Given the description of an element on the screen output the (x, y) to click on. 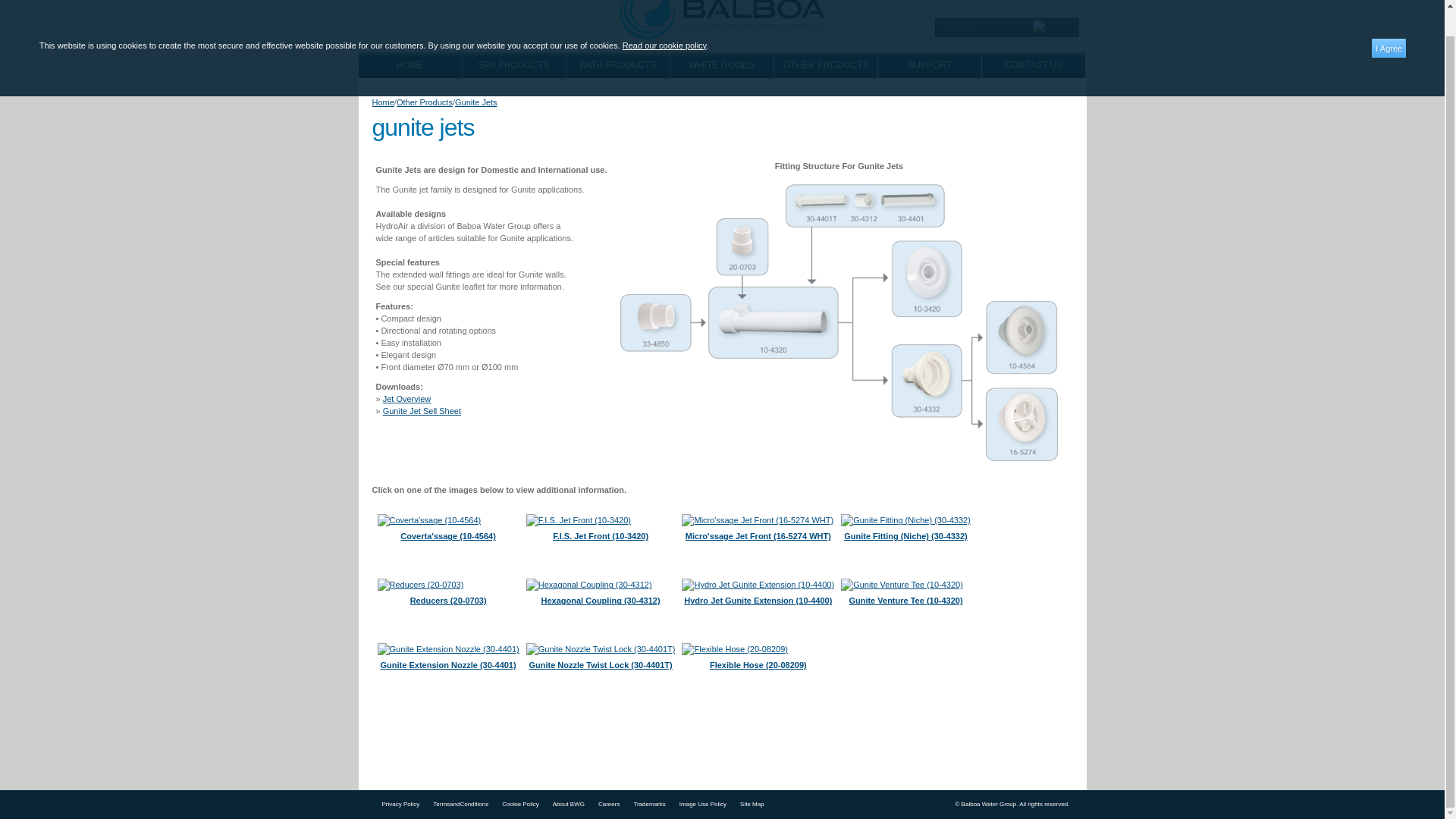
Follow us on Twitter (984, 1)
Follow us on YouTube (1012, 1)
HOME (409, 64)
Follow us on Facebook (1067, 1)
SPA PRODUCTS (514, 64)
Follow us on Instagram (1039, 1)
GuniteJetsAssembly (839, 322)
Follow us on LinkedIn (957, 1)
